Given the description of an element on the screen output the (x, y) to click on. 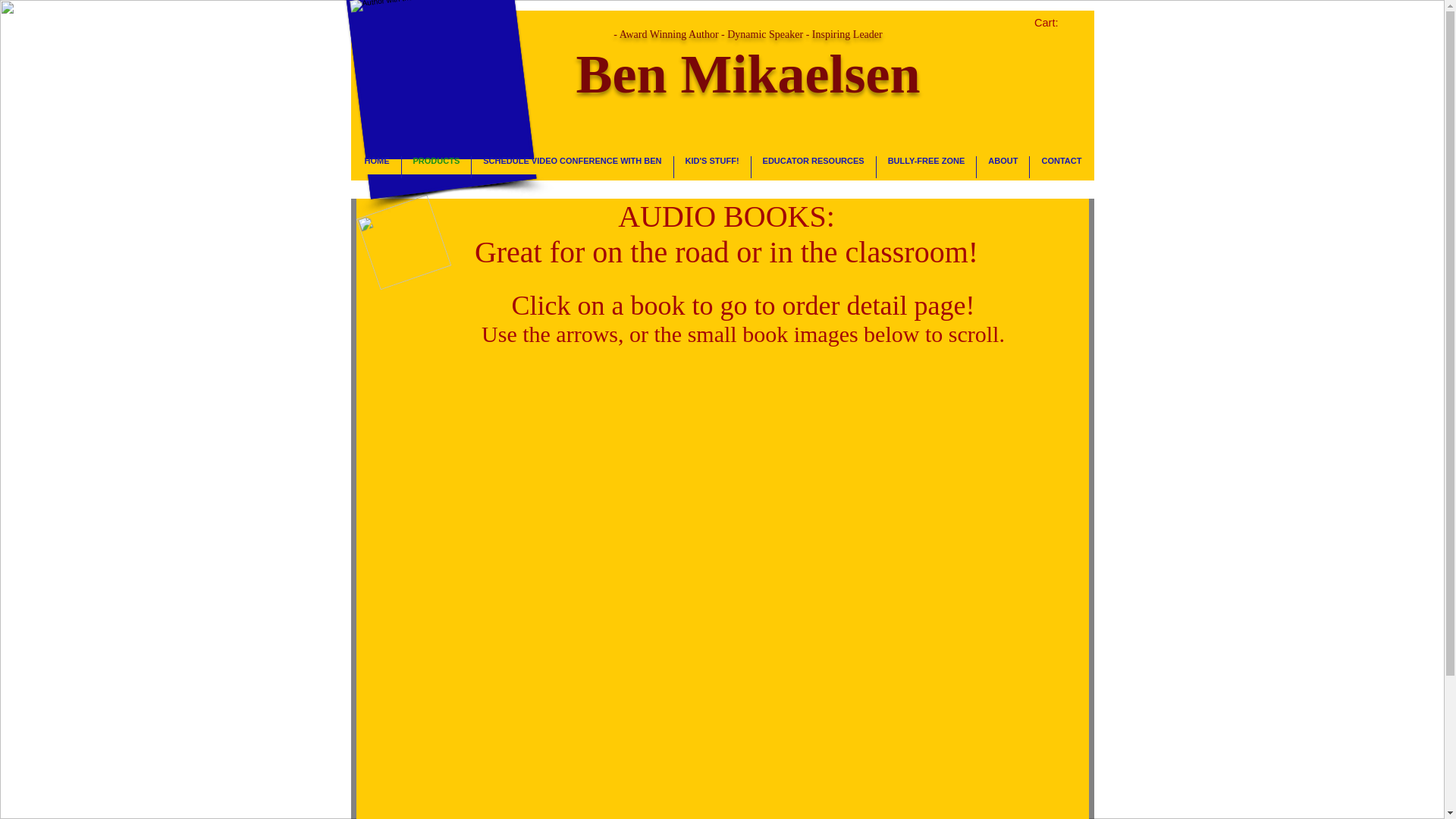
SCHEDULE VIDEO CONFERENCE WITH BEN (571, 167)
HOME (377, 167)
KID'S STUFF! (712, 167)
CONTACT (1061, 167)
redpaw.png (392, 232)
Cart: (1055, 22)
Cart: (1055, 22)
Ben Mikaelsen (747, 74)
BULLY-FREE ZONE (926, 167)
EDUCATOR RESOURCES (813, 167)
ABOUT (1002, 167)
PRODUCTS (436, 167)
Ben Mikaelsen (429, 90)
